Given the description of an element on the screen output the (x, y) to click on. 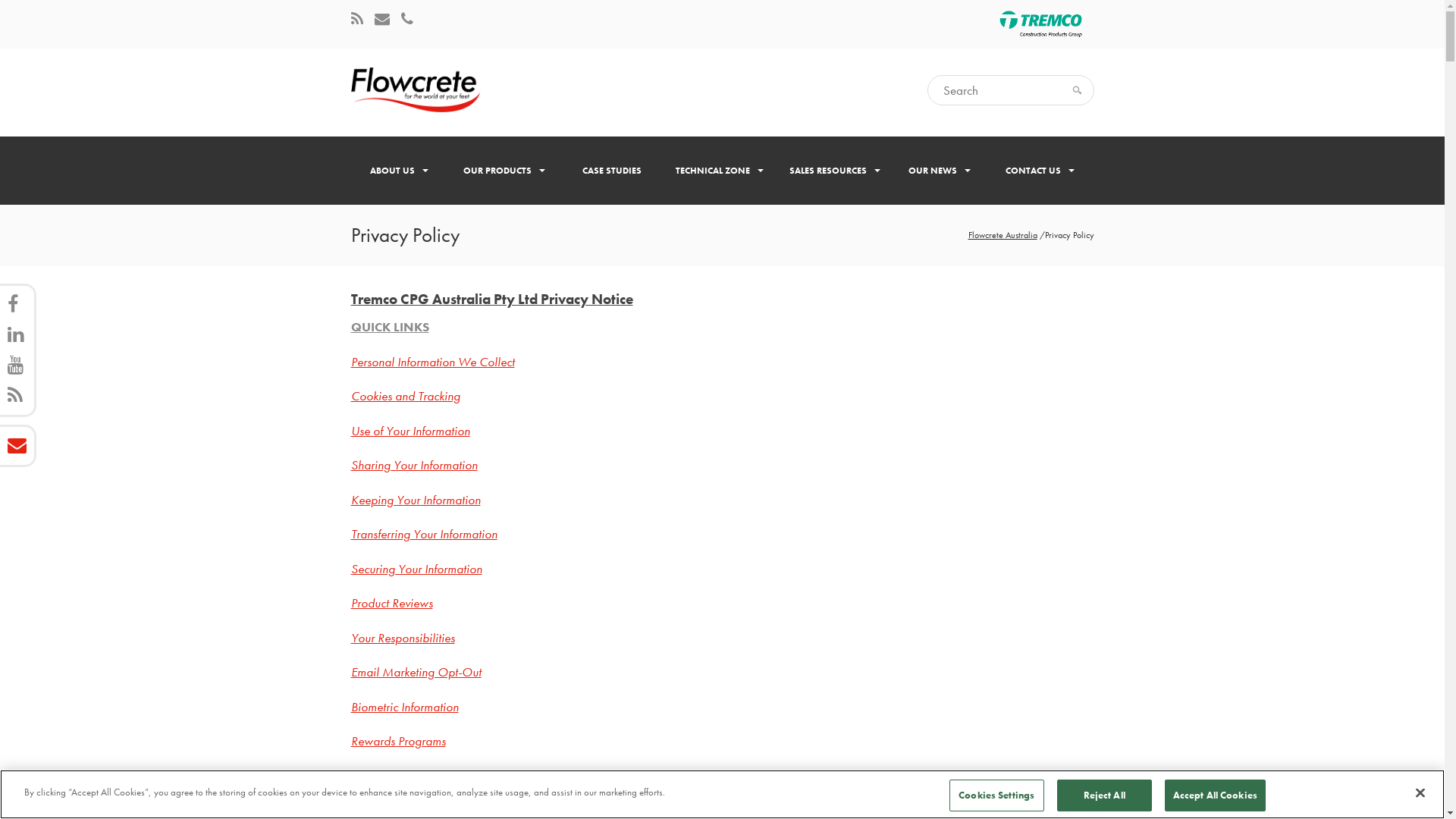
CASE STUDIES Element type: text (611, 170)
Flowcrete Australia Element type: text (1001, 235)
Events and Teleconferences Element type: text (418, 775)
OUR PRODUCTS Element type: text (503, 170)
Transferring Your Information Element type: text (423, 533)
Keeping Your Information Element type: text (415, 499)
OUR NEWS Element type: text (939, 170)
Rewards Programs Element type: text (397, 740)
Use of Your Information Element type: text (409, 430)
Securing Your Information Element type: text (415, 568)
Contact Us Element type: hover (381, 19)
CONTACT US Element type: text (1040, 170)
Contact Us Element type: hover (406, 19)
Product Reviews Element type: text (391, 602)
Sharing Your Information Element type: text (413, 464)
Email Marketing Opt-Out Element type: text (415, 671)
Read The Flooring Blog Element type: hover (356, 19)
ABOUT US Element type: text (398, 170)
Cookies and Tracking Element type: text (404, 395)
Your Responsibilities Element type: text (402, 637)
Biometric Information Element type: text (404, 706)
TECHNICAL ZONE Element type: text (719, 170)
SALES RESOURCES Element type: text (834, 170)
Changes to this Privacy Policy Element type: text (425, 809)
Personal Information We Collect Element type: text (432, 361)
